Given the description of an element on the screen output the (x, y) to click on. 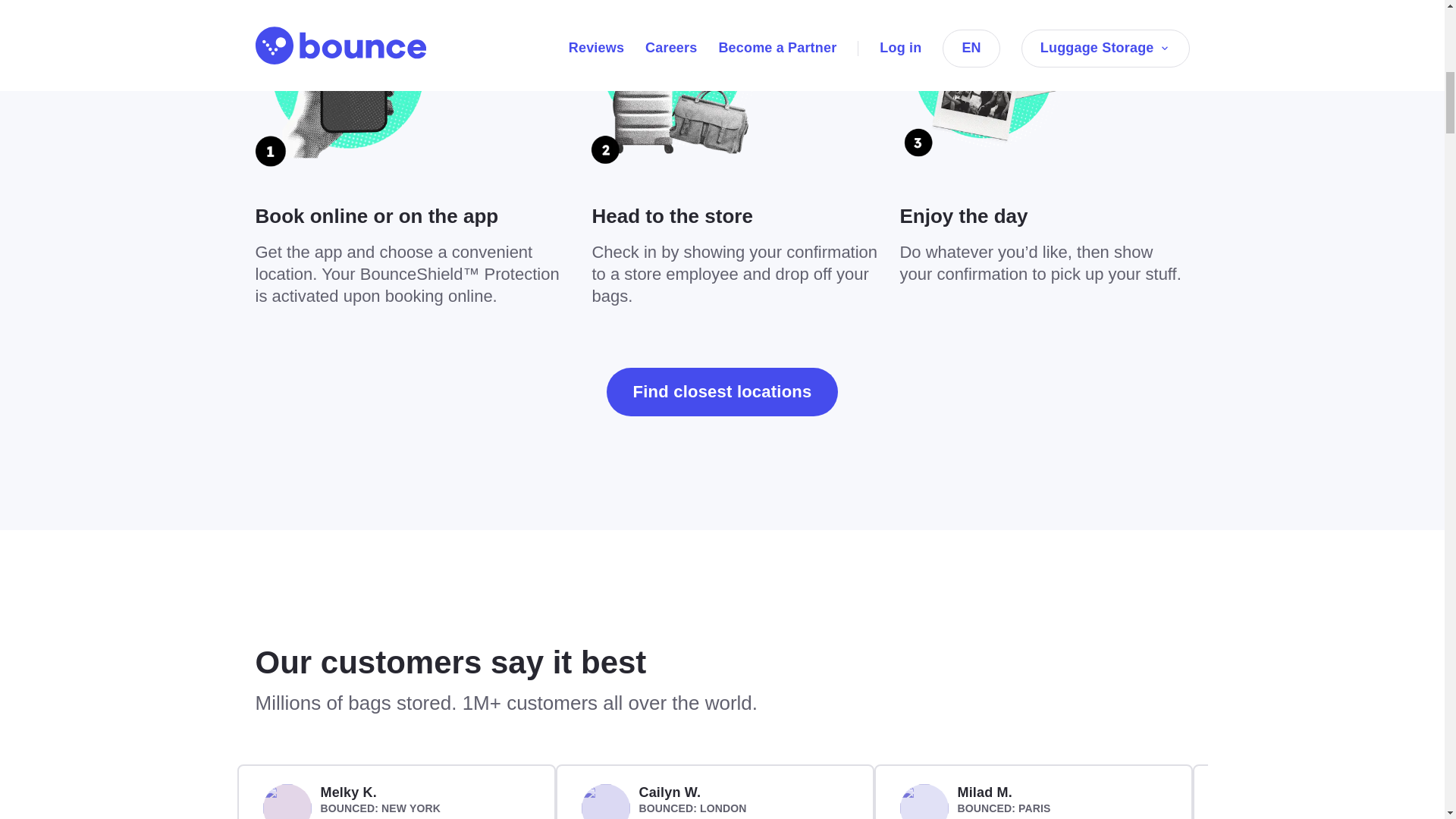
Find closest locations (722, 391)
